Given the description of an element on the screen output the (x, y) to click on. 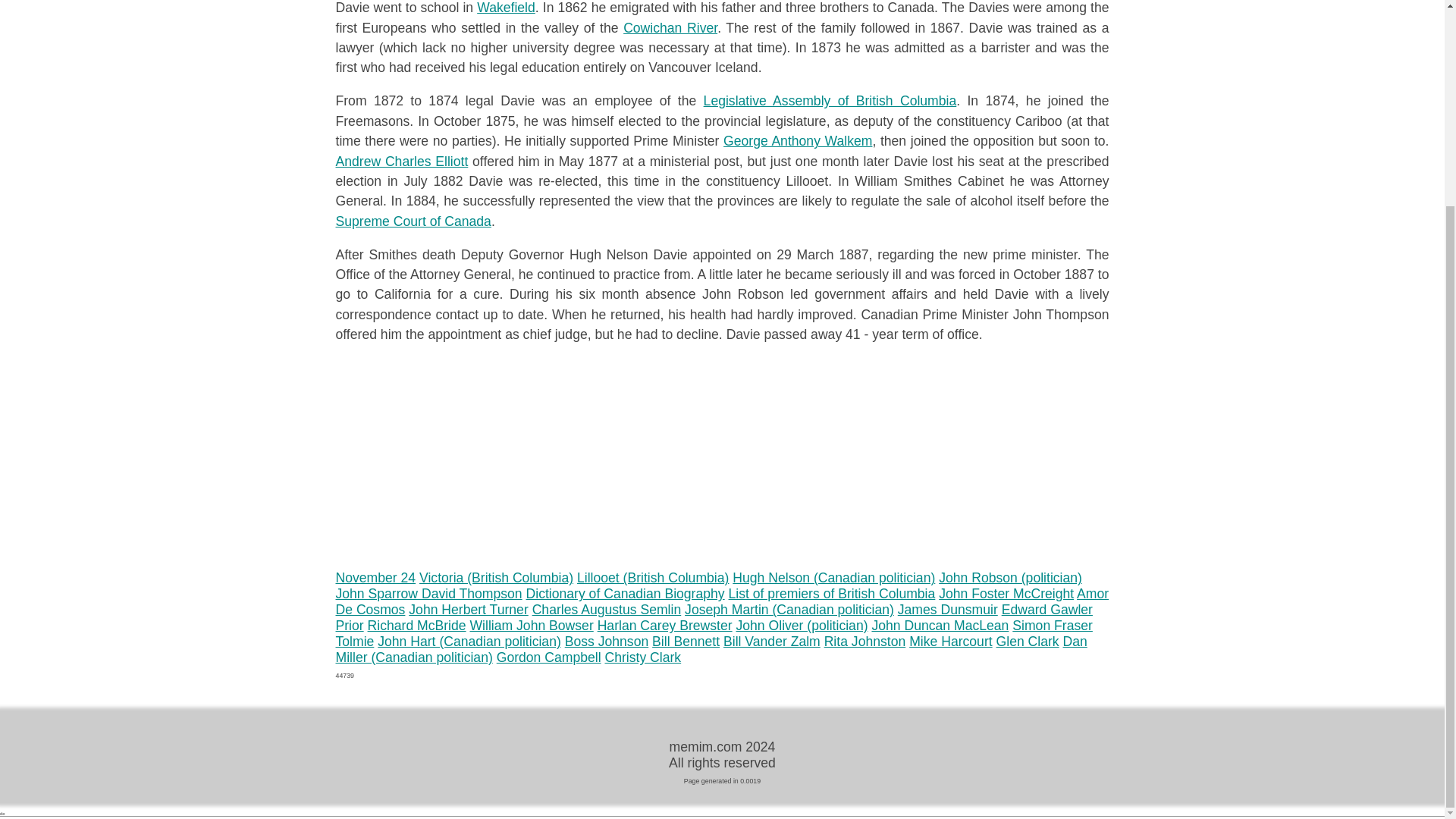
Cowichan River (670, 28)
Supreme Court of Canada (412, 221)
Wakefield (506, 7)
George Anthony Walkem (797, 140)
Andrew Charles Elliott (400, 160)
Legislative Assembly of British Columbia (829, 100)
November 24 (374, 577)
